Given the description of an element on the screen output the (x, y) to click on. 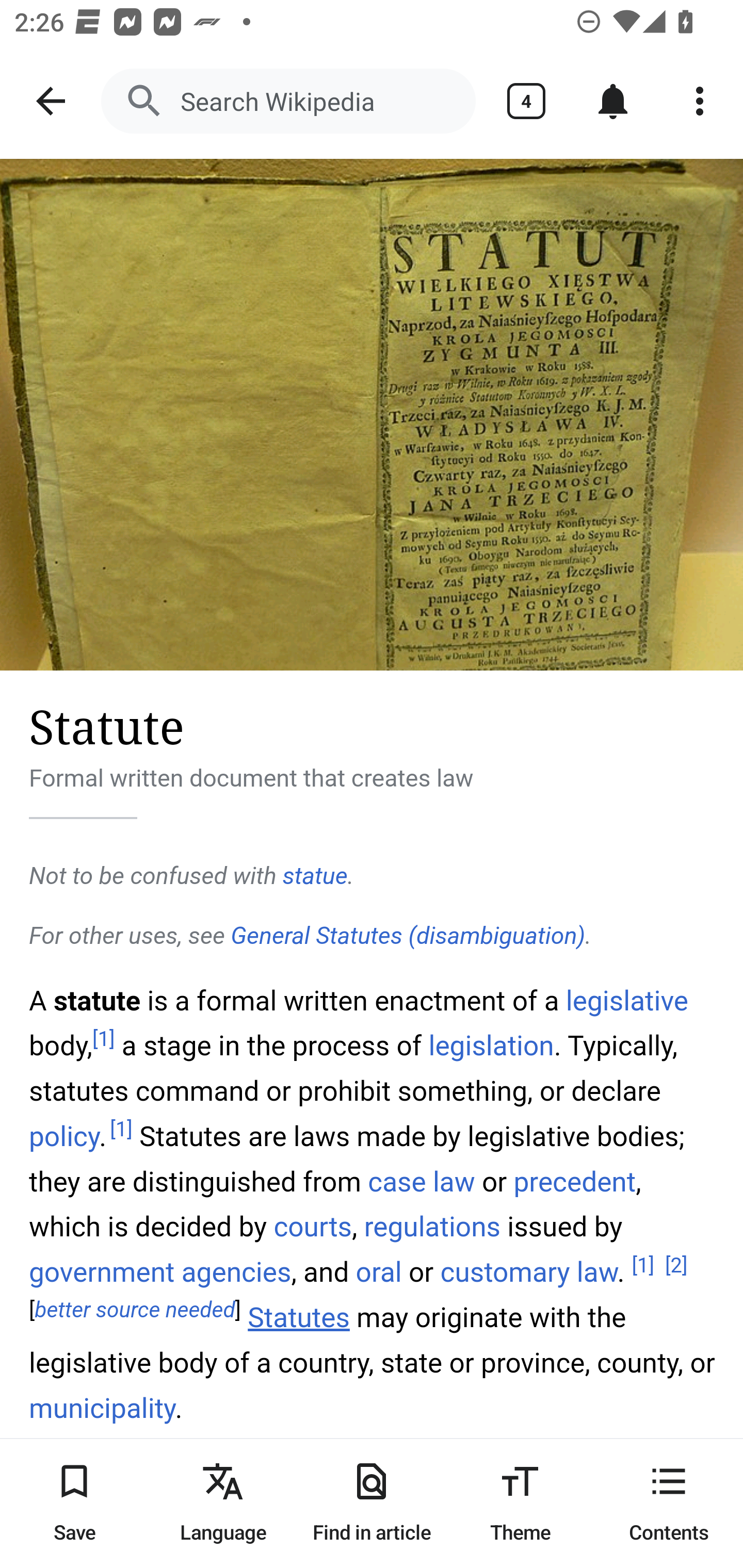
Show tabs 4 (525, 100)
Notifications (612, 100)
Navigate up (50, 101)
More options (699, 101)
Search Wikipedia (288, 100)
Image: Statute (371, 414)
statue (314, 876)
General Statutes (disambiguation) (407, 935)
legislative (626, 1000)
[] [ 1 ] (103, 1038)
legislation (490, 1045)
[] [ 1 ] (120, 1129)
policy (64, 1136)
case law (421, 1180)
precedent (574, 1180)
courts (312, 1225)
regulations (432, 1225)
[] [ 1 ] (642, 1264)
[] [ 2 ] (676, 1264)
government agencies (160, 1272)
oral (377, 1272)
customary law (528, 1272)
better source needed better   source   needed (135, 1310)
Statutes (298, 1318)
municipality (102, 1409)
Save (74, 1502)
Language (222, 1502)
Find in article (371, 1502)
Theme (519, 1502)
Contents (668, 1502)
